Given the description of an element on the screen output the (x, y) to click on. 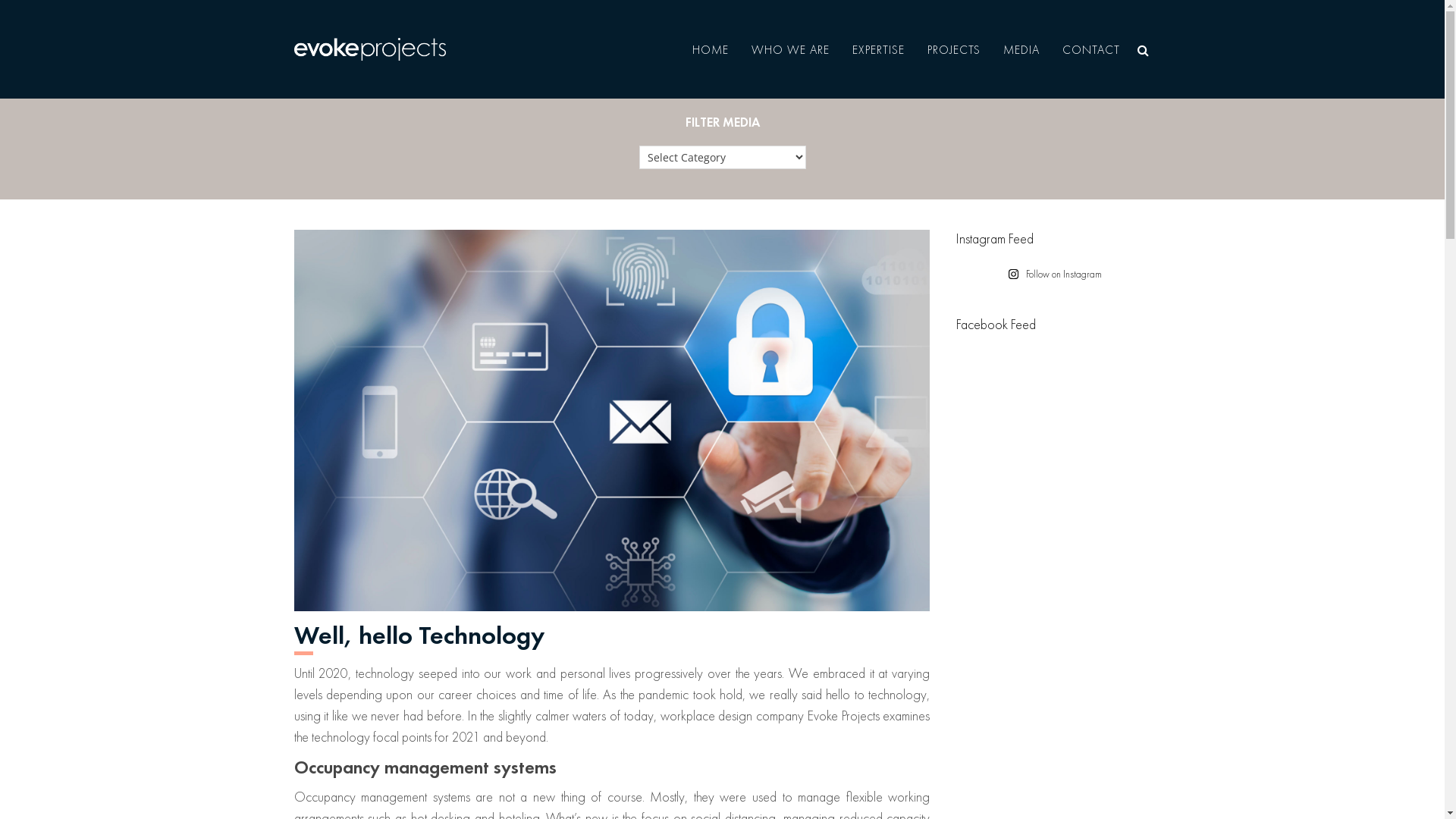
Follow on Instagram Element type: text (1054, 274)
PROJECTS Element type: text (953, 49)
EXPERTISE Element type: text (878, 49)
HOME Element type: text (710, 49)
MEDIA Element type: text (1021, 49)
WHO WE ARE Element type: text (790, 49)
CONTACT Element type: text (1091, 49)
